Given the description of an element on the screen output the (x, y) to click on. 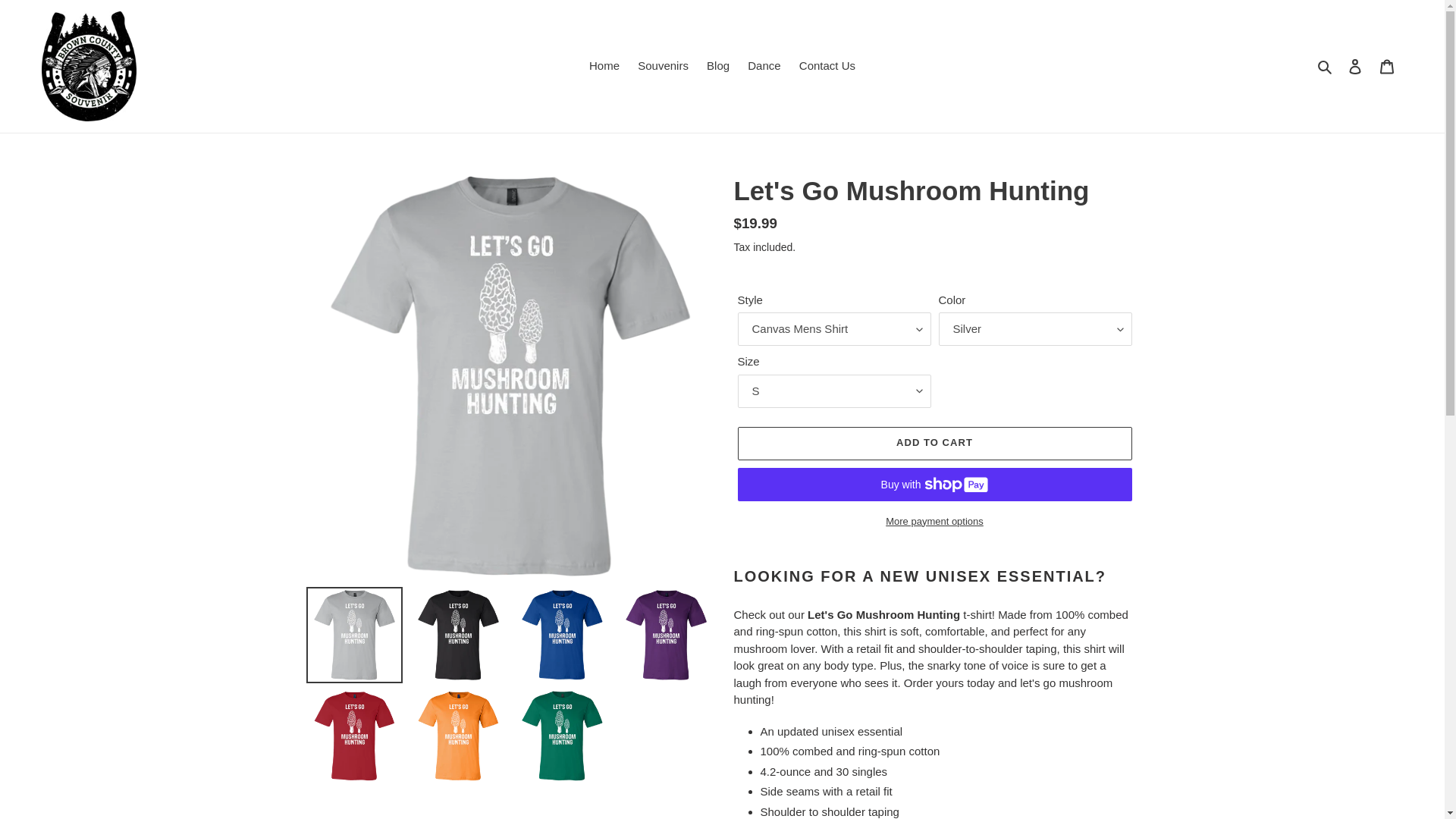
Souvenirs (662, 65)
ADD TO CART (933, 443)
Dance (763, 65)
Home (603, 65)
Search (1326, 66)
Log in (1355, 65)
Contact Us (827, 65)
Cart (1387, 65)
Blog (717, 65)
More payment options (933, 521)
